Given the description of an element on the screen output the (x, y) to click on. 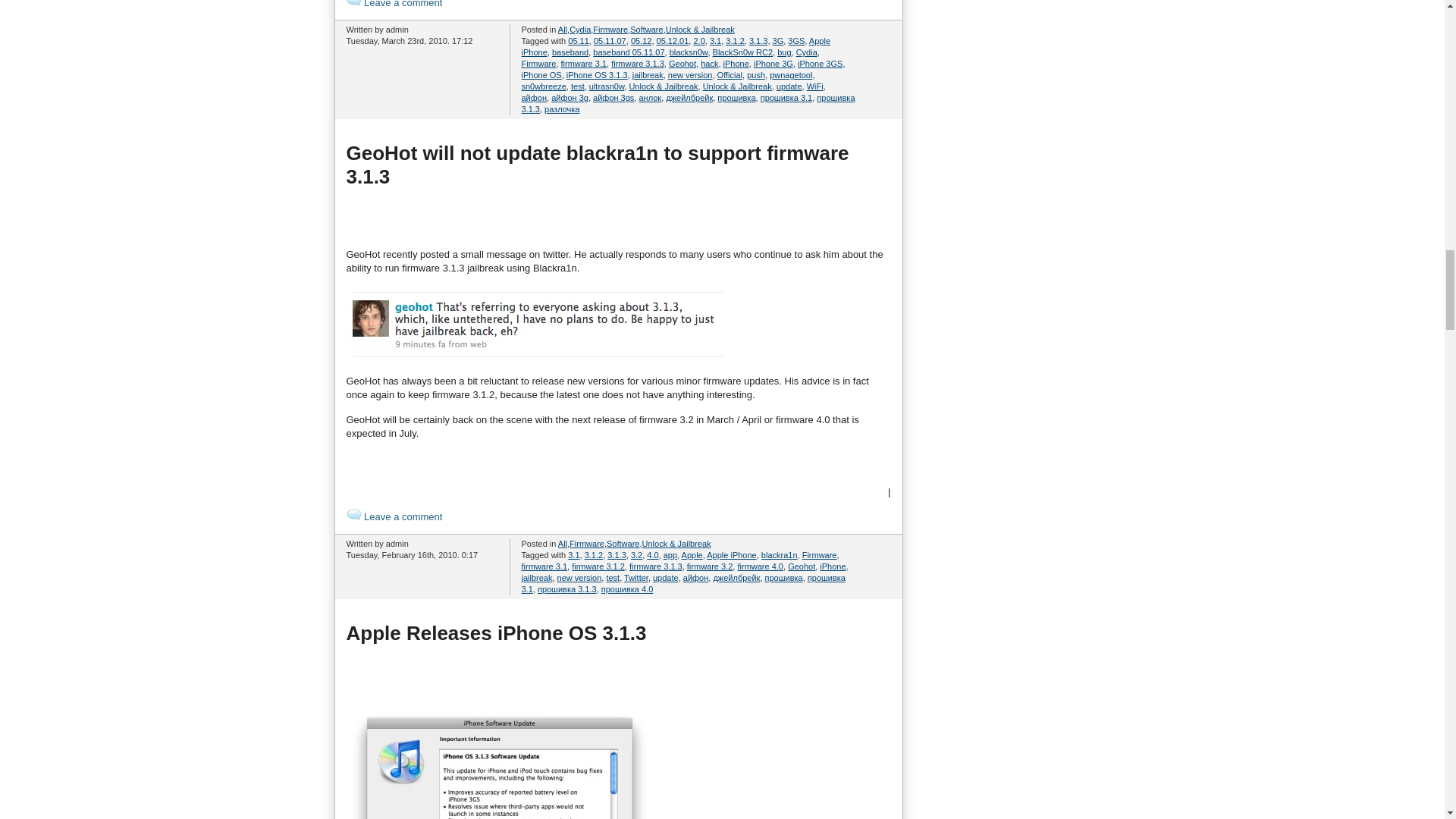
View all posts in All (562, 29)
View all posts in Firmware (609, 29)
View all posts in Cydia (580, 29)
View all posts in All (562, 542)
View all posts in Software (646, 29)
blackra1n-313 (534, 324)
